Given the description of an element on the screen output the (x, y) to click on. 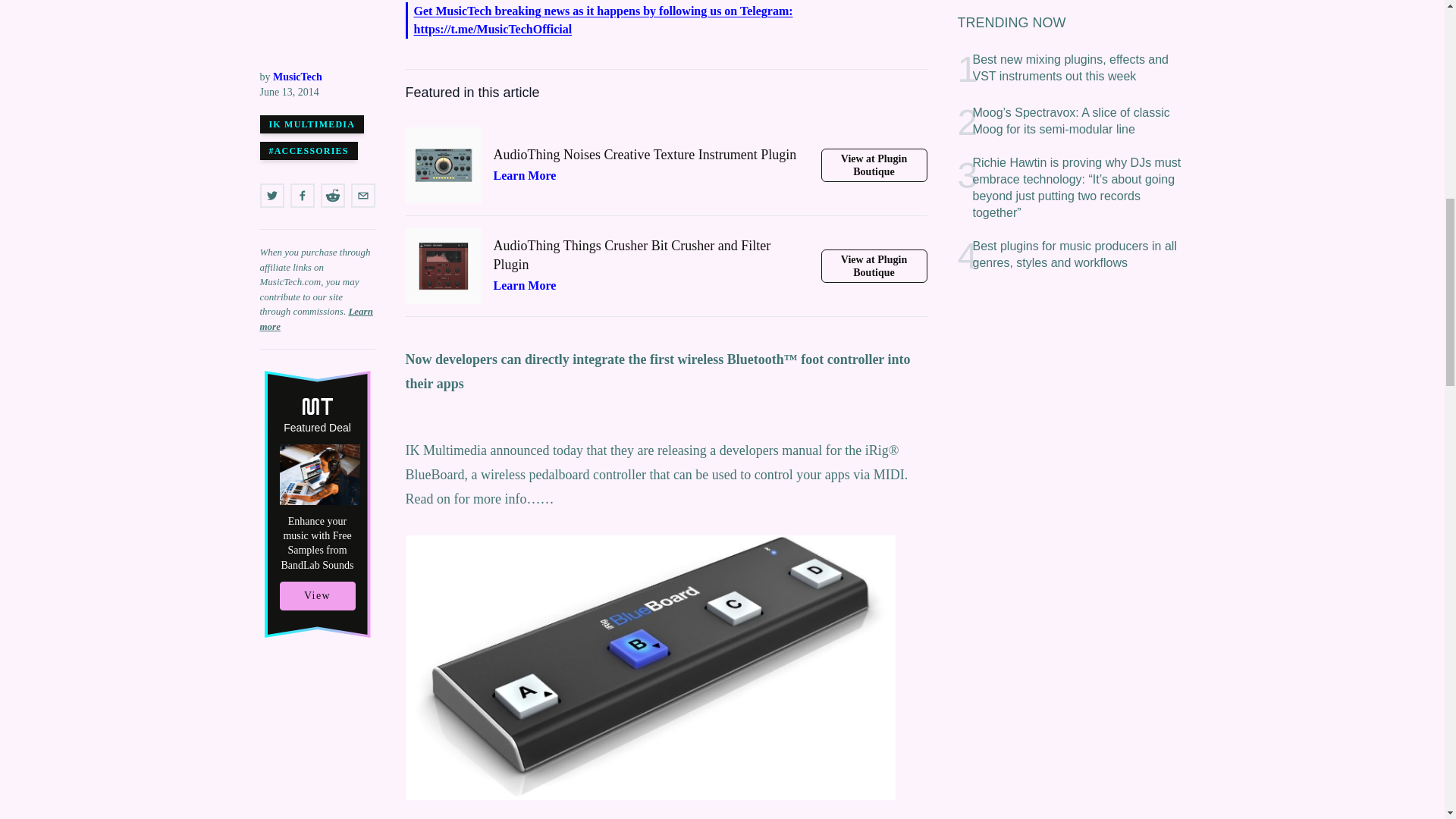
Learn More (524, 285)
AudioThing Things Crusher Bit Crusher and Filter Plugin (650, 264)
Learn More (524, 174)
AudioThing Noises Creative Texture Instrument Plugin (650, 163)
View (317, 19)
View at Plugin Boutique (873, 265)
View at Plugin Boutique (873, 164)
